Given the description of an element on the screen output the (x, y) to click on. 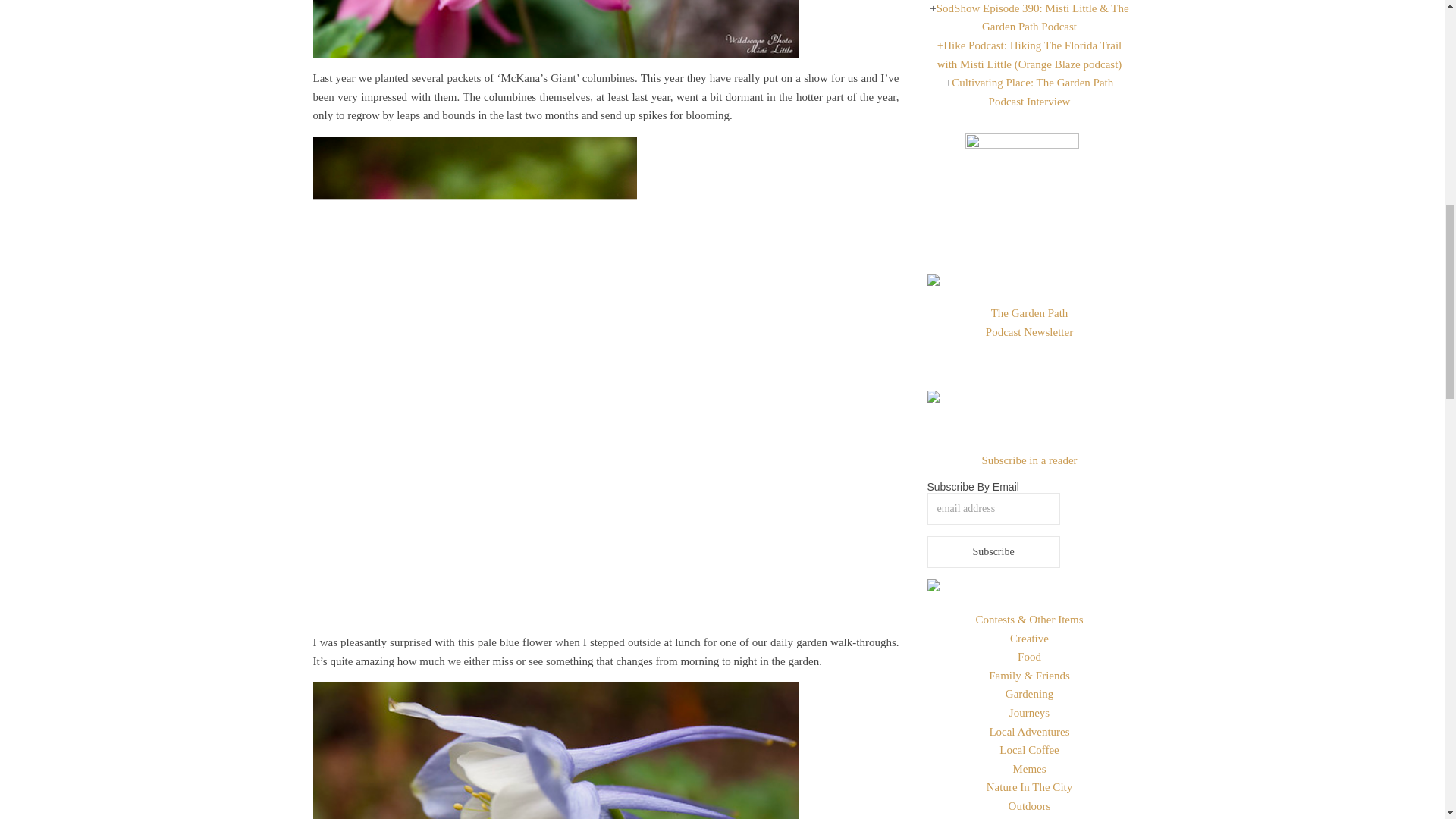
Cultivating Place: The Garden Path Podcast Interview (1032, 91)
Subscribe (992, 552)
mckanna3 by M.  Little, on Flickr (605, 750)
mckanna1 by M.  Little, on Flickr (605, 28)
Subscribe to my feed (1029, 460)
